Given the description of an element on the screen output the (x, y) to click on. 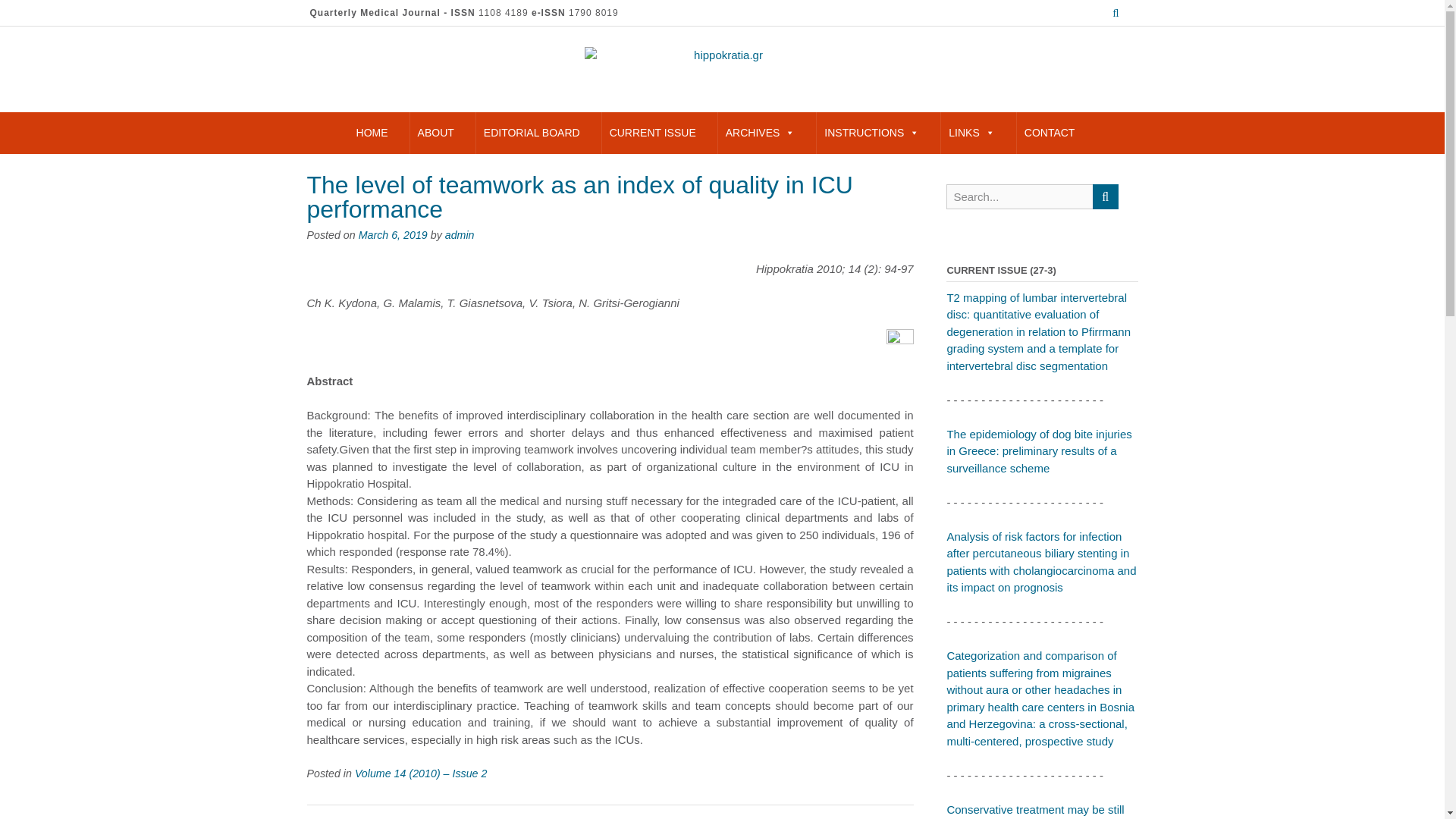
ABOUT (435, 132)
CURRENT ISSUE (652, 132)
Search for: (1019, 196)
HOME (372, 132)
EDITORIAL BOARD (532, 132)
ARCHIVES (760, 132)
